Given the description of an element on the screen output the (x, y) to click on. 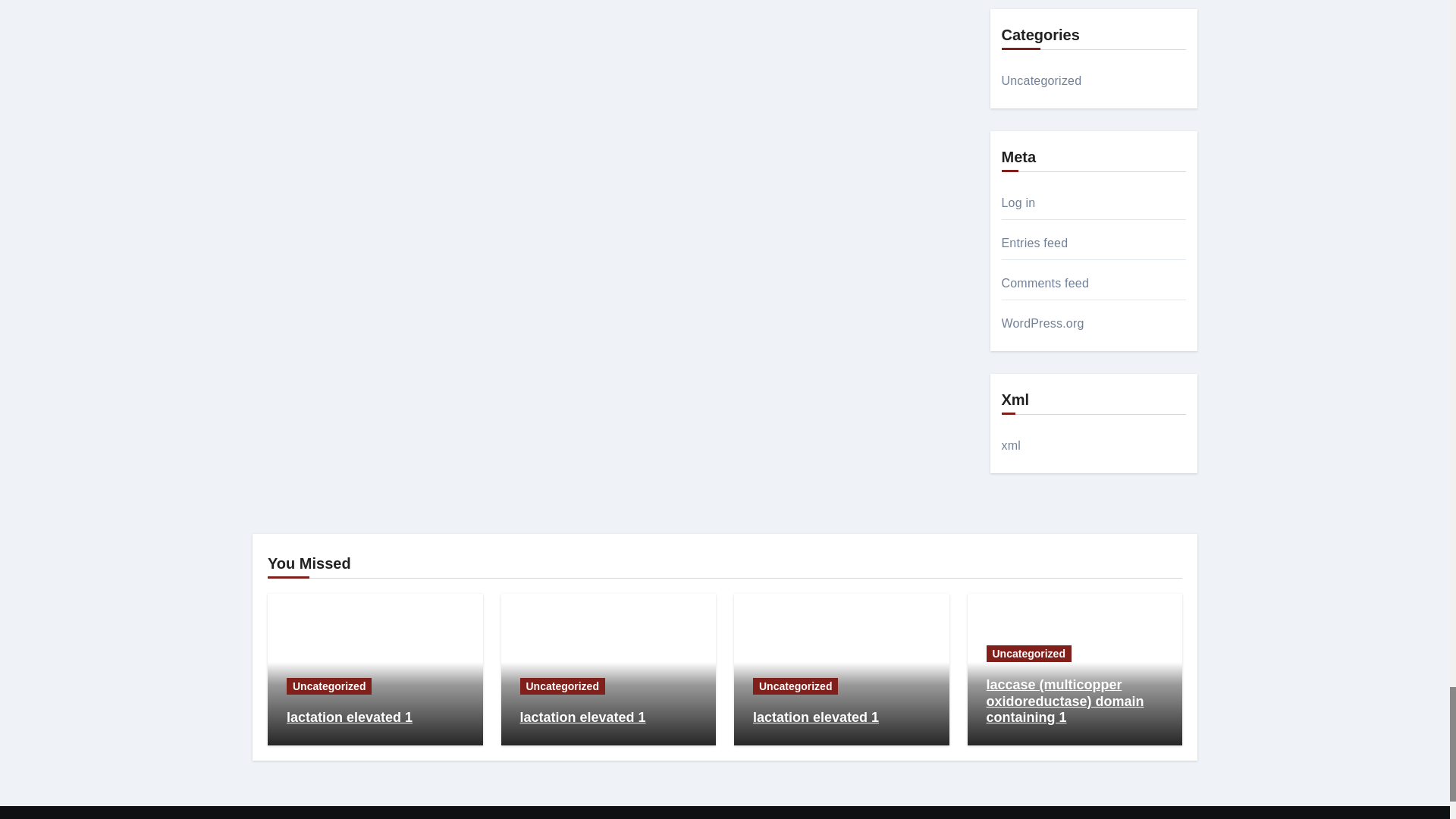
Permalink to: lactation elevated 1 (349, 717)
Permalink to: lactation elevated 1 (815, 717)
Permalink to: lactation elevated 1 (582, 717)
